Given the description of an element on the screen output the (x, y) to click on. 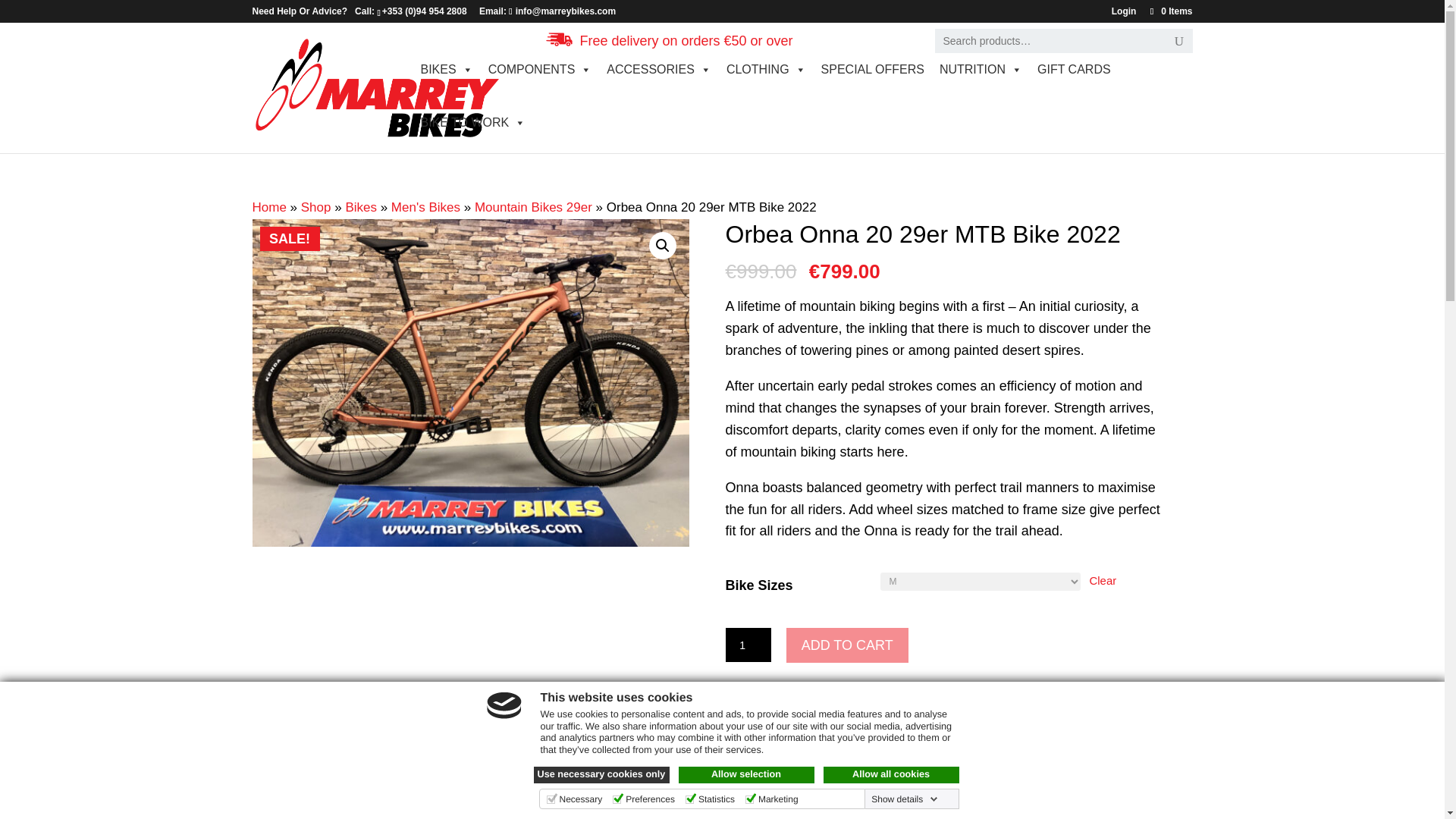
Use necessary cookies only (601, 774)
Allow all cookies (891, 774)
1 (747, 644)
Login (1124, 14)
Allow selection (745, 774)
Show details (903, 799)
